Given the description of an element on the screen output the (x, y) to click on. 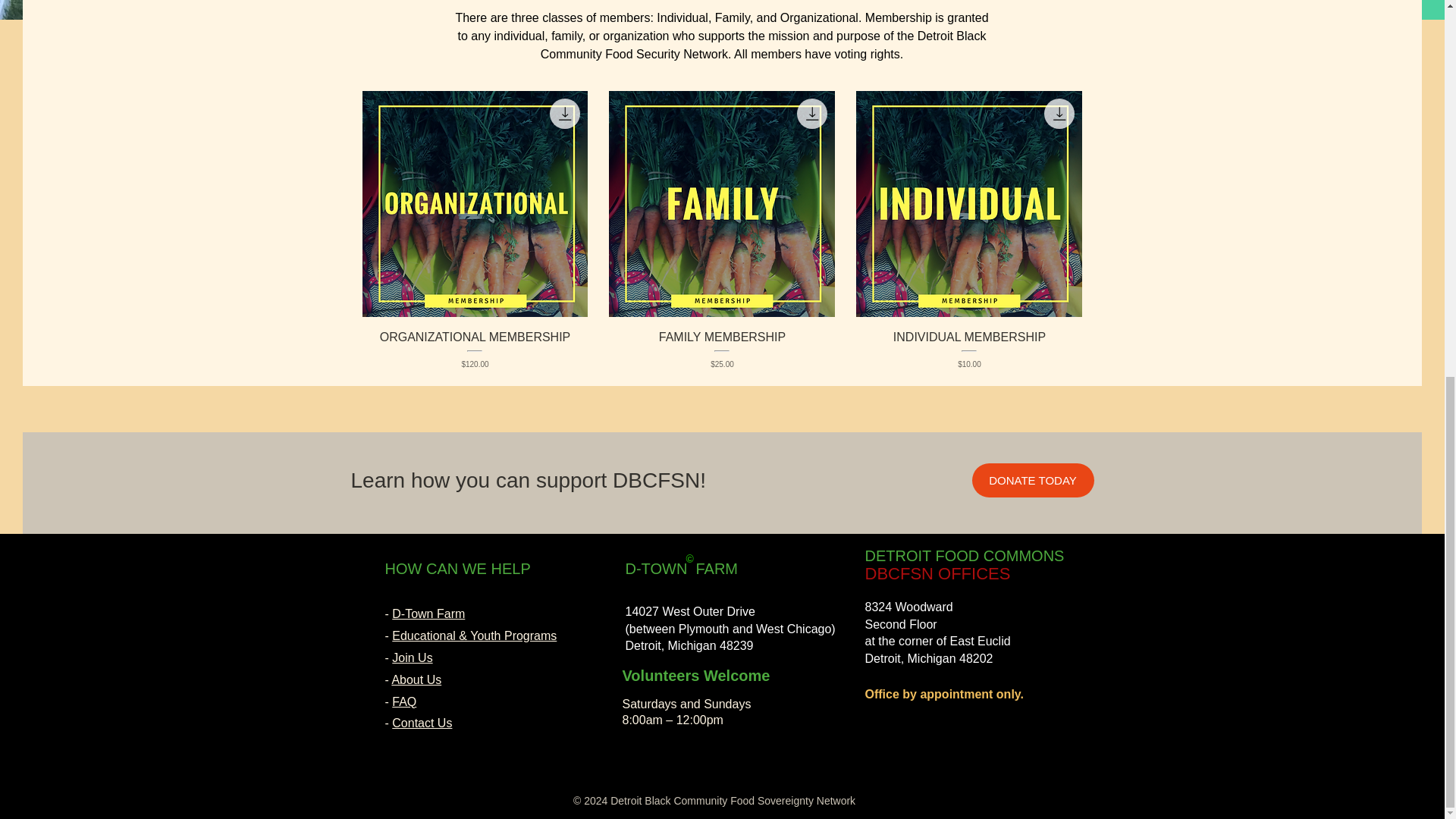
DONATE TODAY (1033, 478)
D-Town Farm (427, 613)
